Given the description of an element on the screen output the (x, y) to click on. 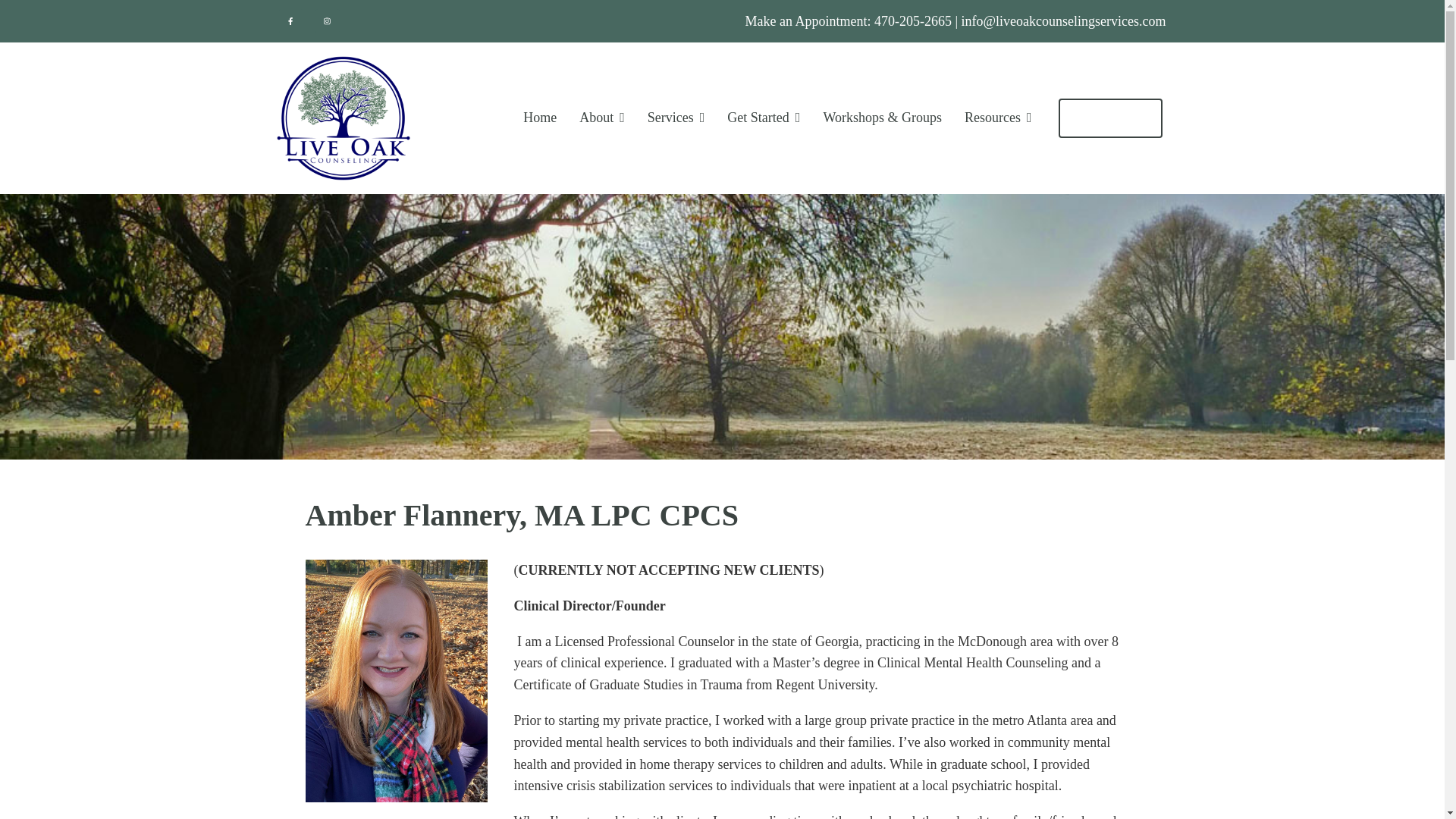
Home (539, 117)
Contact (1109, 118)
About (601, 117)
Get Started (762, 117)
Resources (997, 117)
Services (675, 117)
470-205-2665 (913, 20)
